Given the description of an element on the screen output the (x, y) to click on. 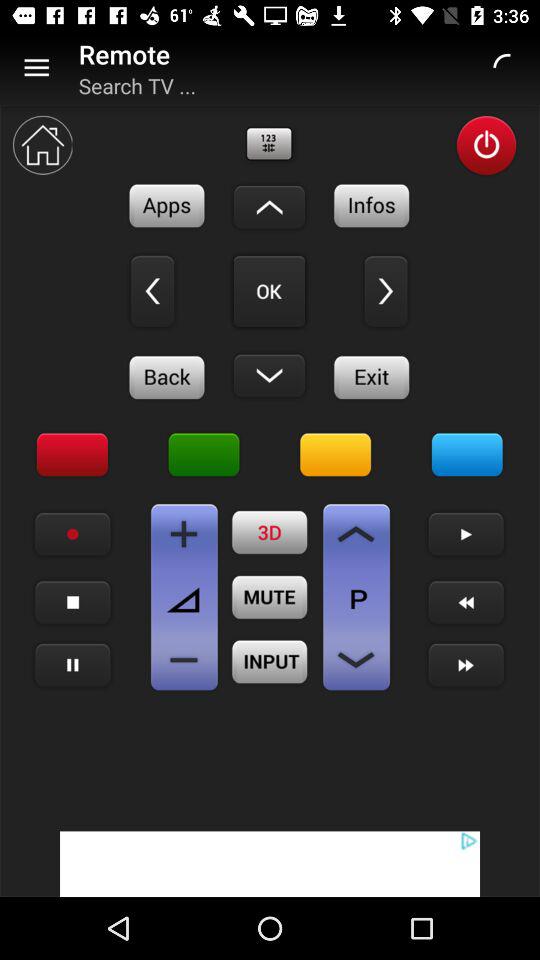
go up (269, 207)
